Given the description of an element on the screen output the (x, y) to click on. 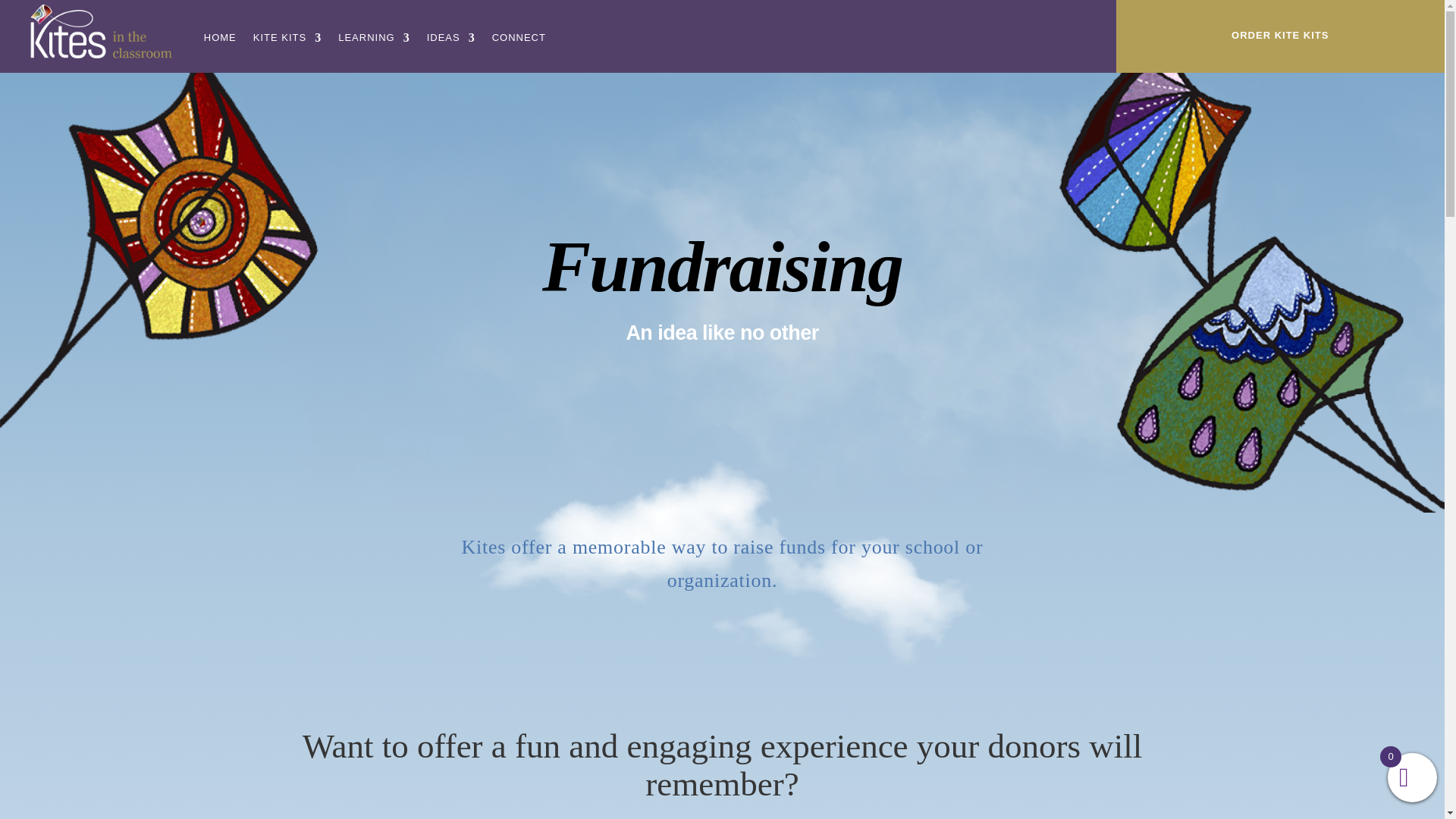
LEARNING (373, 37)
ORDER KITE KITS (1280, 34)
KITE KITS (287, 37)
